Given the description of an element on the screen output the (x, y) to click on. 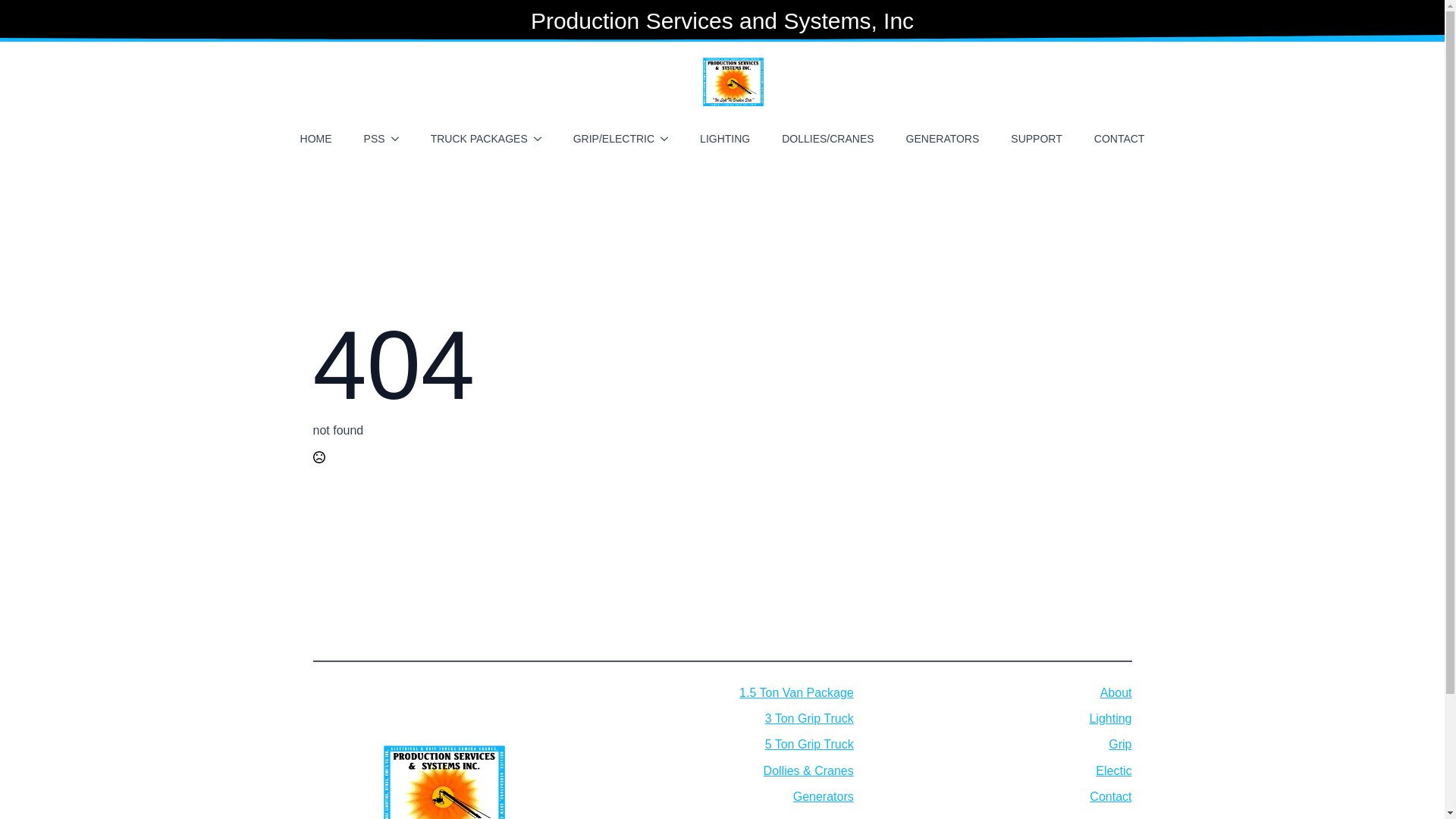
PSS (368, 138)
1.5 Ton Van Package (796, 692)
3 Ton Grip Truck (809, 718)
LIGHTING (724, 138)
Lighting (1110, 718)
Generators (823, 796)
HOME (315, 138)
About (1116, 692)
CONTACT (1119, 138)
SUPPORT (1036, 138)
GENERATORS (942, 138)
5 Ton Grip Truck (809, 744)
TRUCK PACKAGES (473, 138)
